Given the description of an element on the screen output the (x, y) to click on. 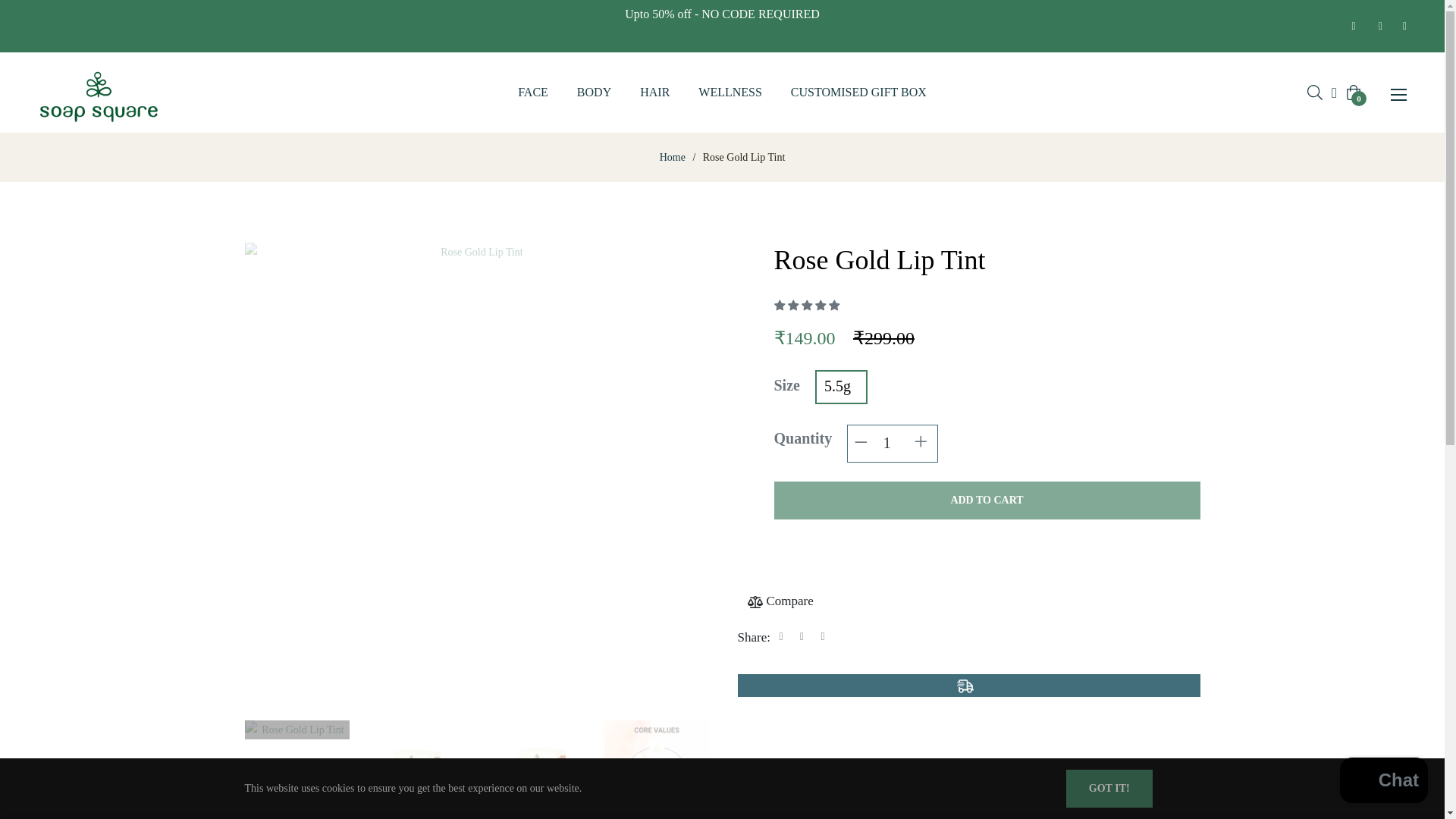
CUSTOMISED GIFT BOX (858, 92)
Soapsquare Healthcare Private Limited on YouTube (1400, 25)
1 (892, 443)
WELLNESS (730, 92)
Soapsquare Healthcare Private Limited on Instagram (1375, 25)
Home (672, 157)
Shopping Cart (1353, 92)
Soapsquare Healthcare Private Limited on Facebook (1349, 25)
